Given the description of an element on the screen output the (x, y) to click on. 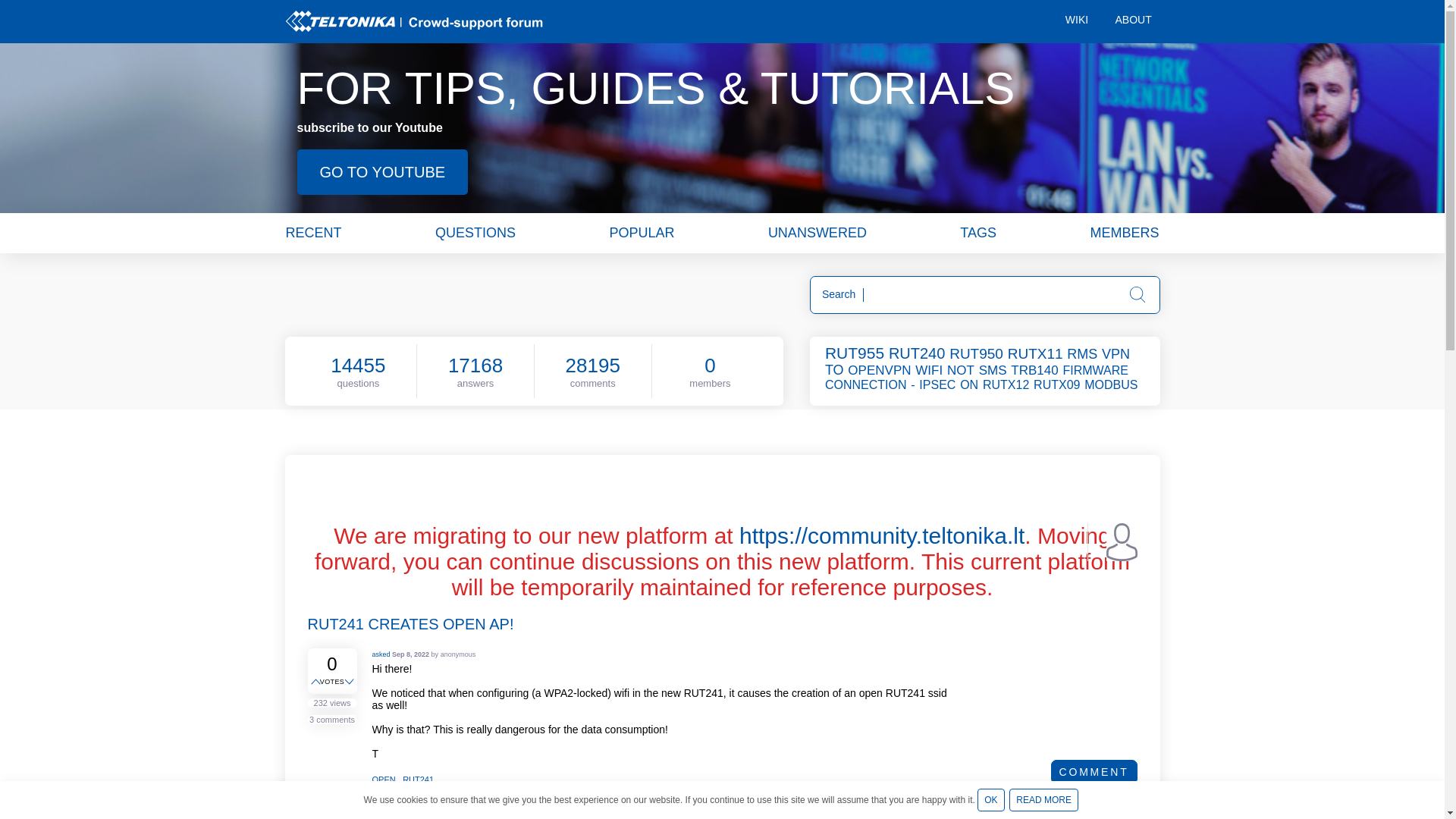
NOT (961, 370)
RUT950 (977, 353)
TO (835, 369)
QUESTIONS (475, 232)
RUTX12 (1006, 384)
POPULAR (641, 232)
Click to vote up (317, 682)
RUTX11 (1036, 353)
RUTX09 (1057, 384)
Search (1137, 294)
